Given the description of an element on the screen output the (x, y) to click on. 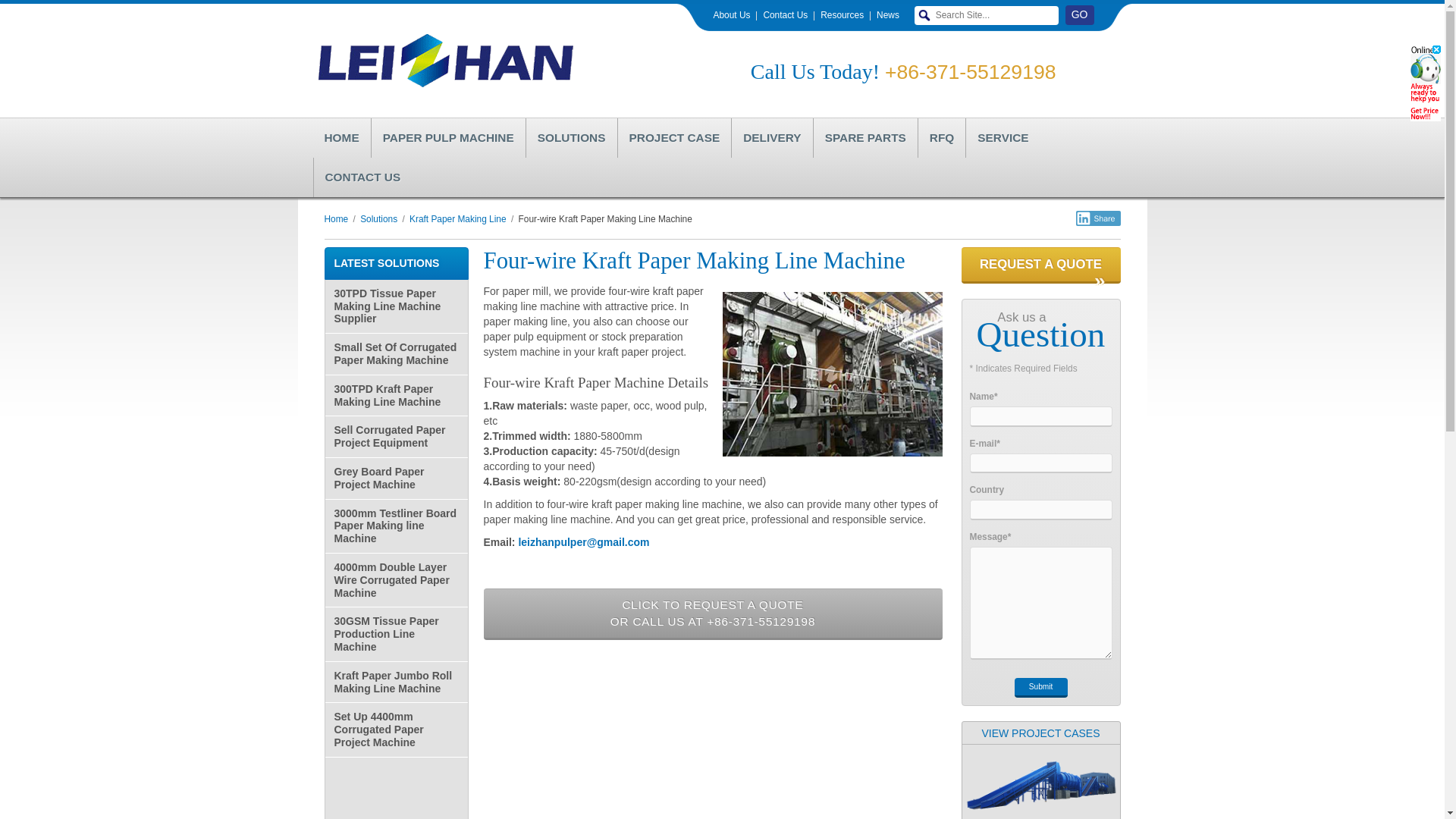
Project Case (674, 137)
Solutions (571, 137)
Leizhan Pulper (341, 137)
SERVICE (1002, 137)
GO (1079, 14)
About Us (731, 14)
News (887, 14)
Paper Pulp Machine (448, 137)
GO (1079, 14)
Leizhan Pulper (443, 60)
Resources (842, 14)
Contact Us (785, 14)
PAPER PULP MACHINE (448, 137)
PROJECT CASE (674, 137)
RFQ (941, 137)
